Given the description of an element on the screen output the (x, y) to click on. 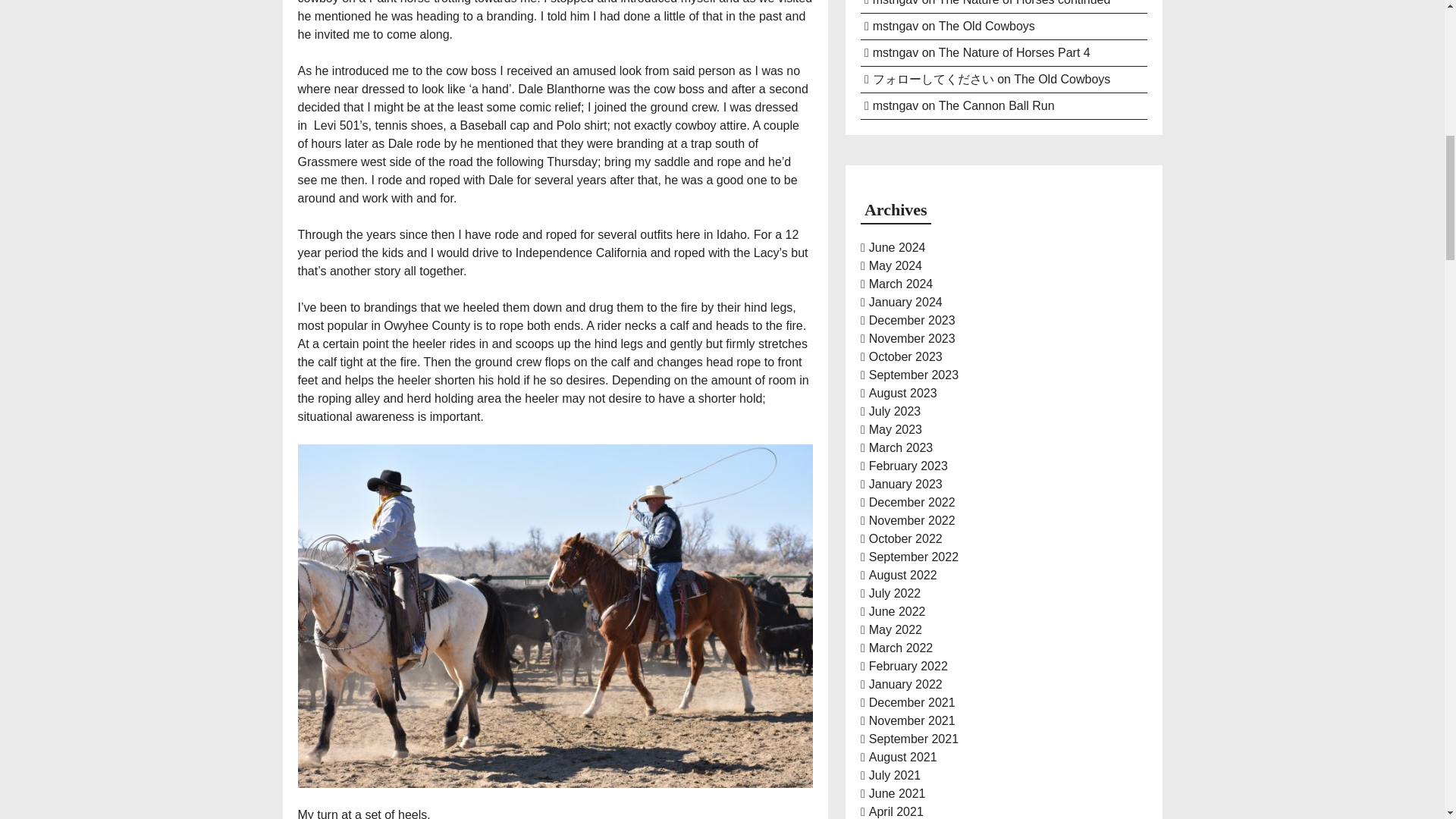
May 2024 (895, 265)
January 2024 (905, 301)
The Old Cowboys (1061, 78)
October 2023 (905, 356)
December 2023 (912, 319)
September 2023 (913, 374)
December 2022 (912, 502)
March 2024 (901, 283)
June 2024 (897, 246)
May 2023 (895, 429)
February 2023 (908, 465)
January 2023 (905, 483)
October 2022 (905, 538)
July 2023 (895, 410)
The Nature of Horses Part 4 (1014, 51)
